Given the description of an element on the screen output the (x, y) to click on. 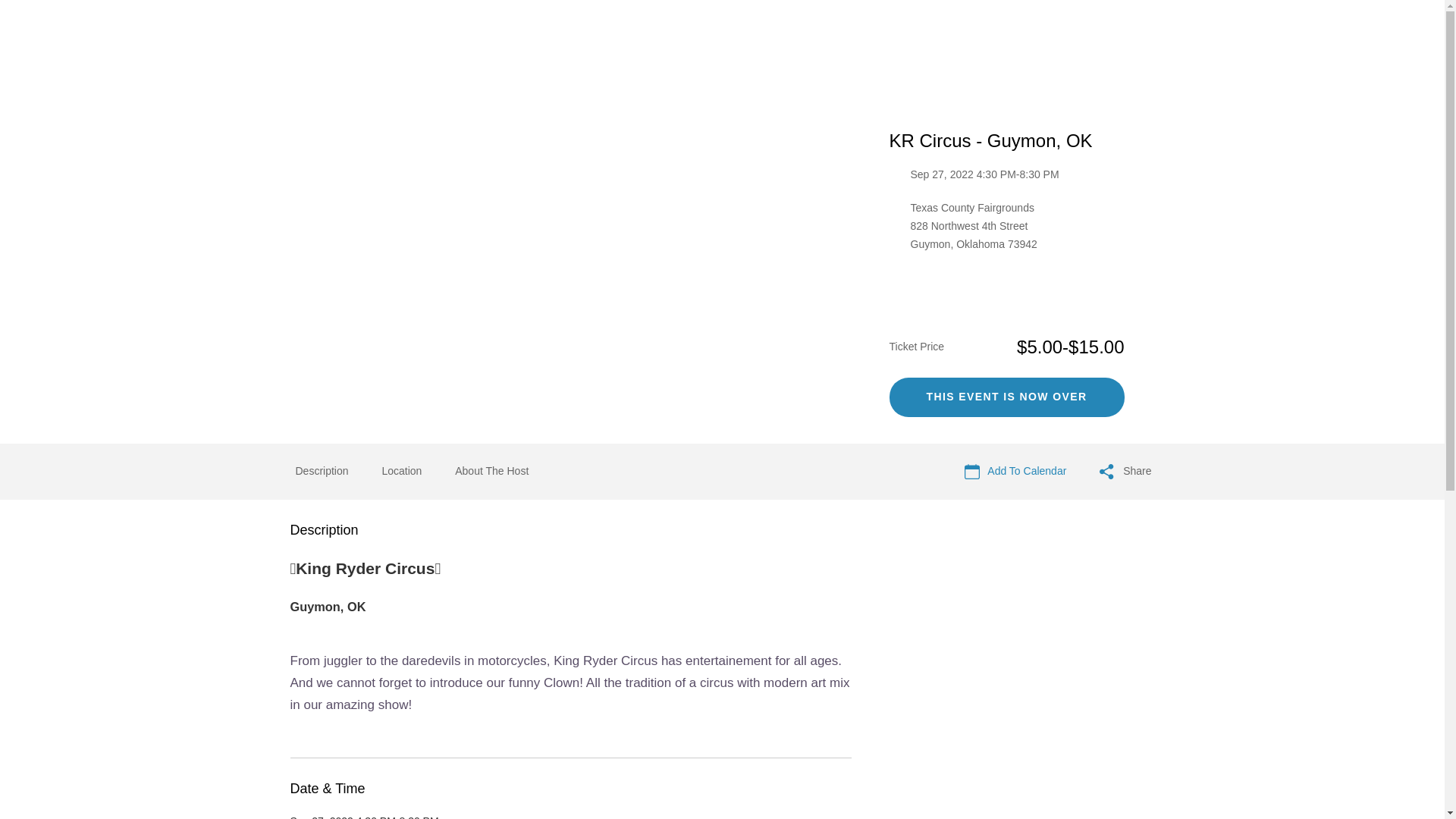
Location (401, 471)
Description (322, 471)
Description (322, 470)
Add To Calendar (1014, 471)
Add To Calendar (1014, 471)
About The Host (491, 471)
Location (401, 470)
About The Host (491, 470)
Share (1125, 471)
